Given the description of an element on the screen output the (x, y) to click on. 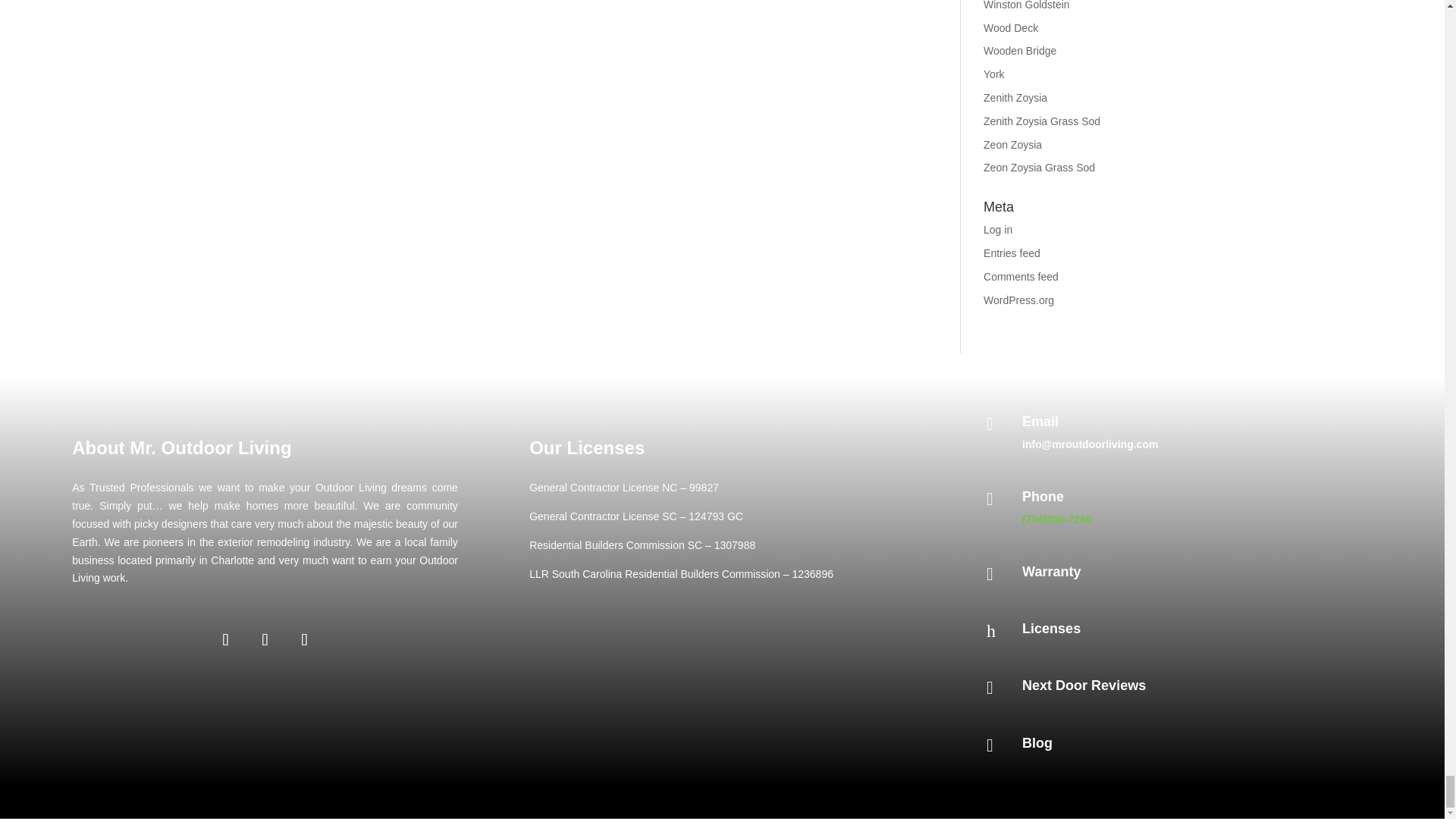
Follow on Youtube (304, 639)
Follow on Instagram (265, 639)
Follow on Facebook (226, 639)
